Given the description of an element on the screen output the (x, y) to click on. 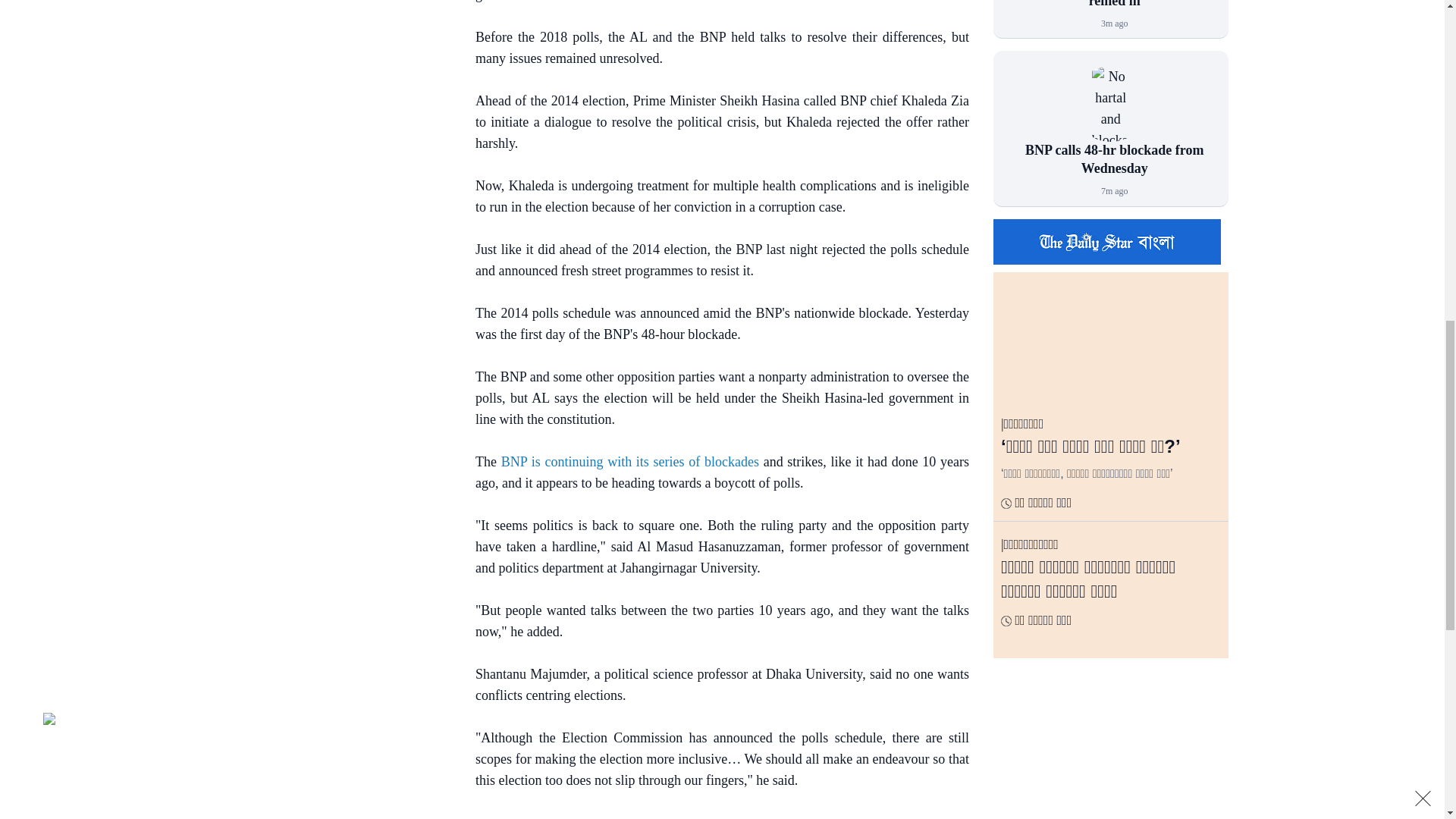
No hartal and blockade on Sunday (1110, 103)
